Given the description of an element on the screen output the (x, y) to click on. 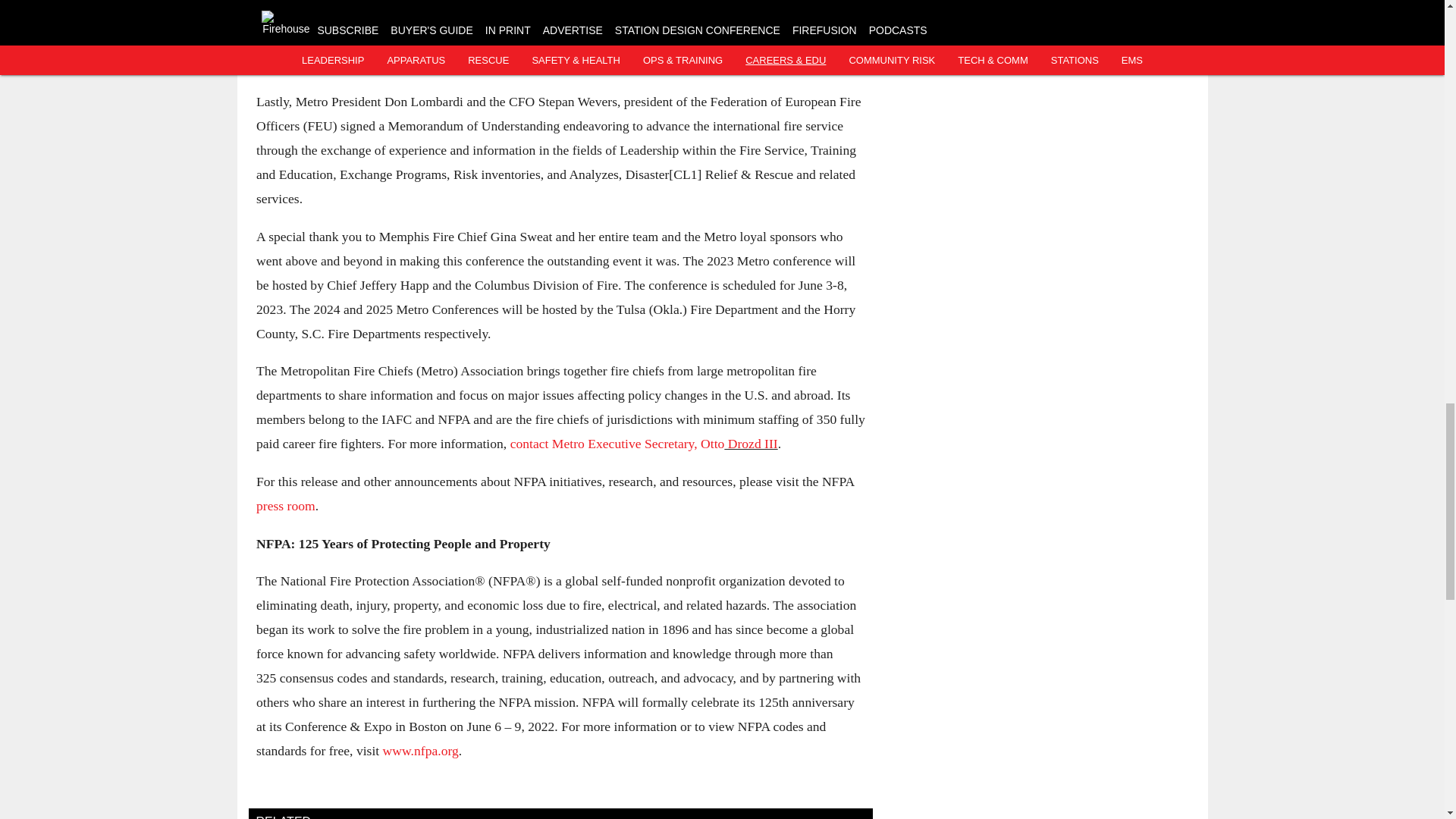
press room (285, 505)
www.nfpa.org (419, 750)
contact Metro Executive Secretary, Otto (616, 443)
Drozd III (750, 443)
